Given the description of an element on the screen output the (x, y) to click on. 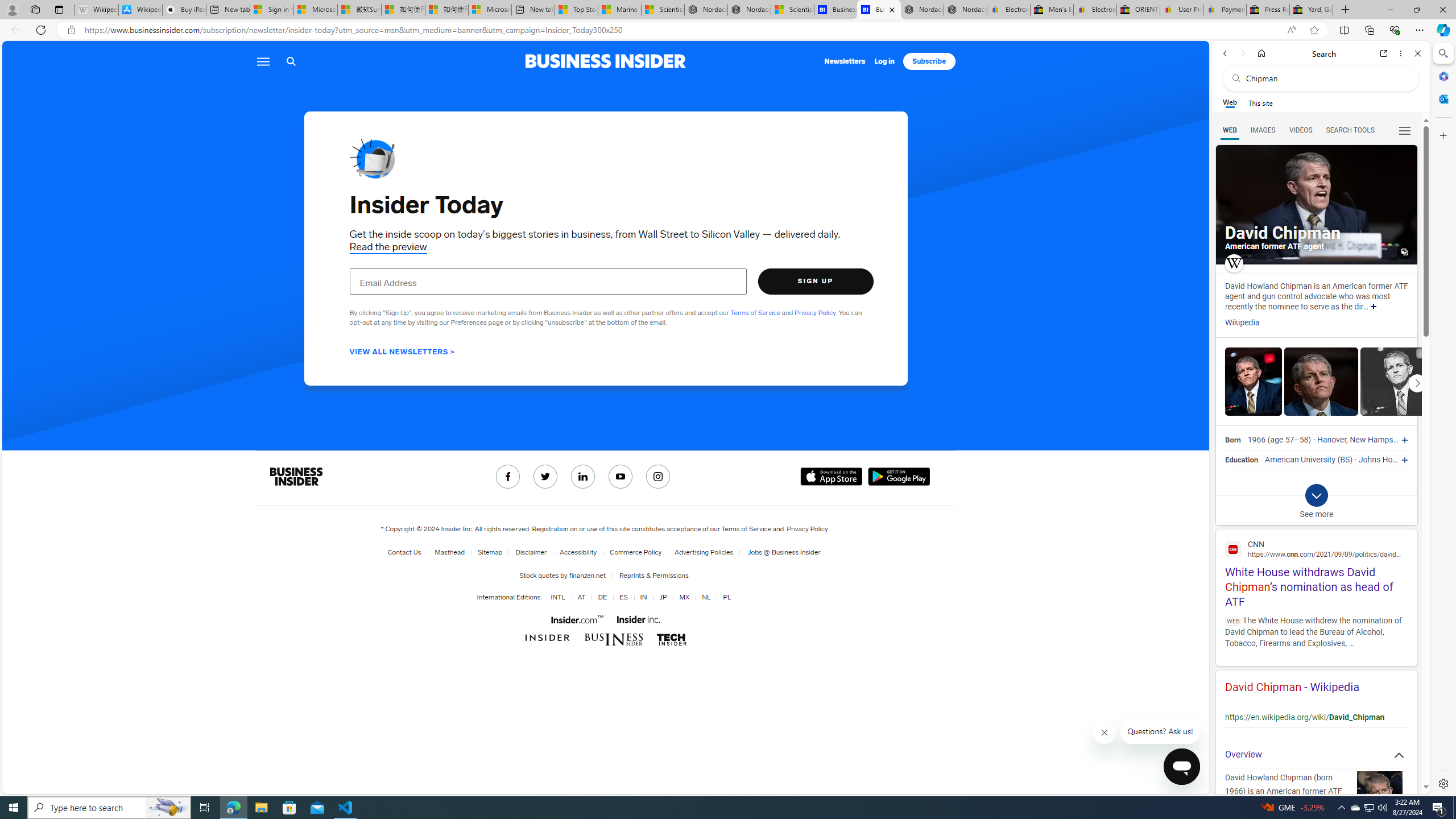
NL (705, 597)
Stock quotes byfinanzen.net (564, 575)
NL (704, 597)
Jobs at Business Insider (783, 552)
Get it on Google Play (898, 476)
Go to the search page. (290, 61)
Search icon (290, 61)
Advertising Policies (703, 552)
Click to visit us on Facebook (507, 476)
Mailbox (371, 158)
